Given the description of an element on the screen output the (x, y) to click on. 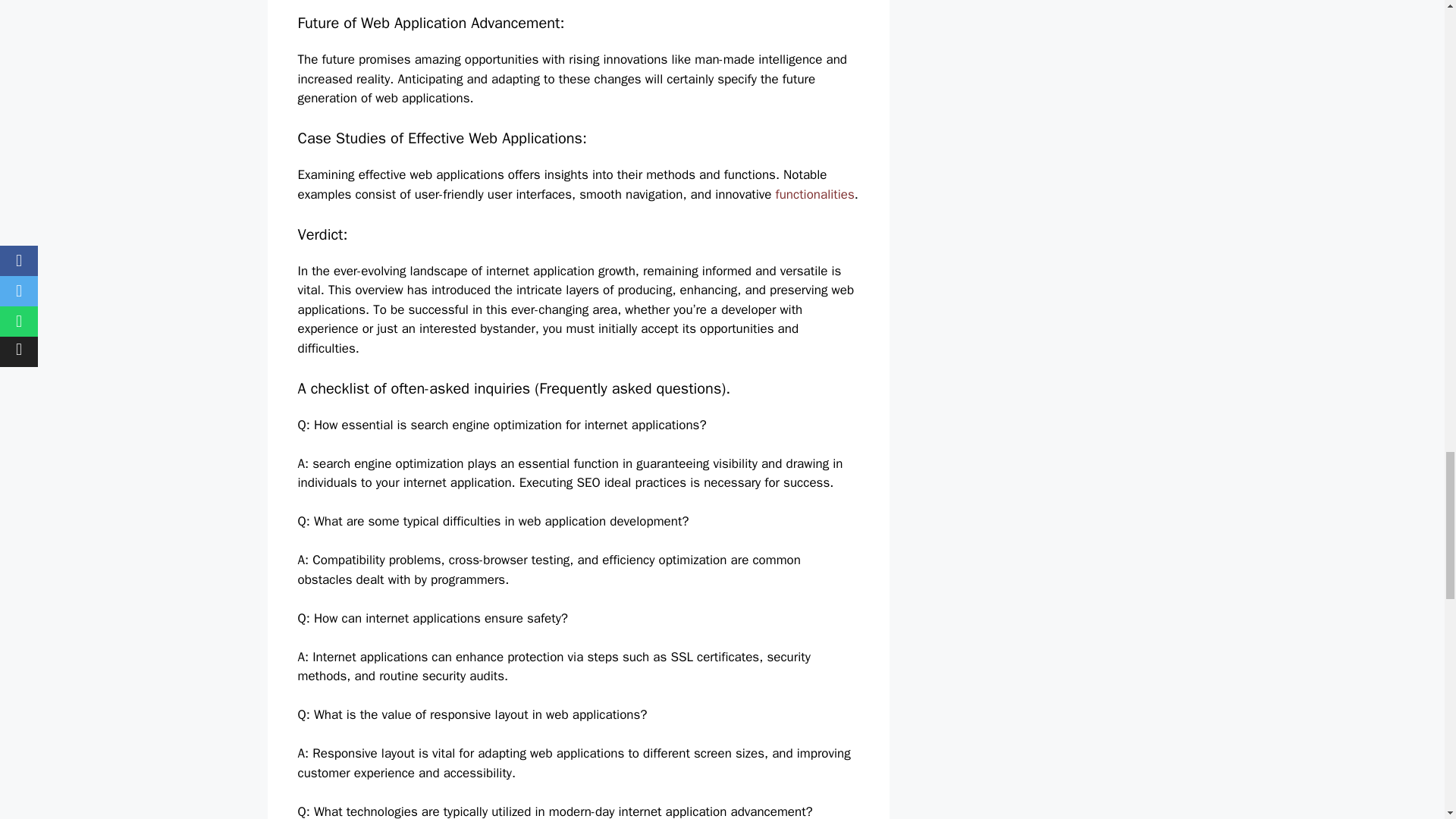
functionalities (815, 194)
